Given the description of an element on the screen output the (x, y) to click on. 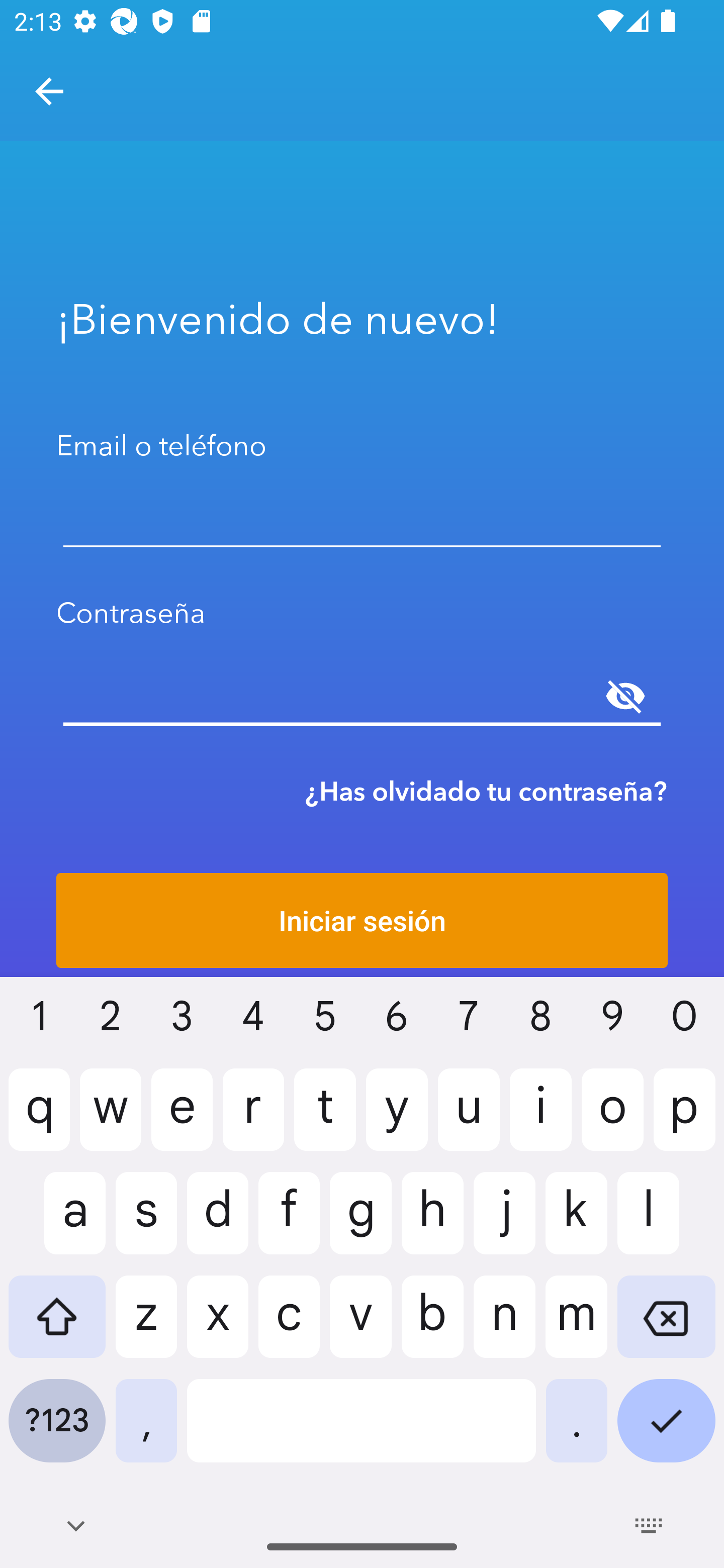
Navegar hacia arriba (49, 91)
Mostrar contraseña (625, 695)
¿Has olvidado tu contraseña? (486, 790)
Iniciar sesión (361, 920)
